Given the description of an element on the screen output the (x, y) to click on. 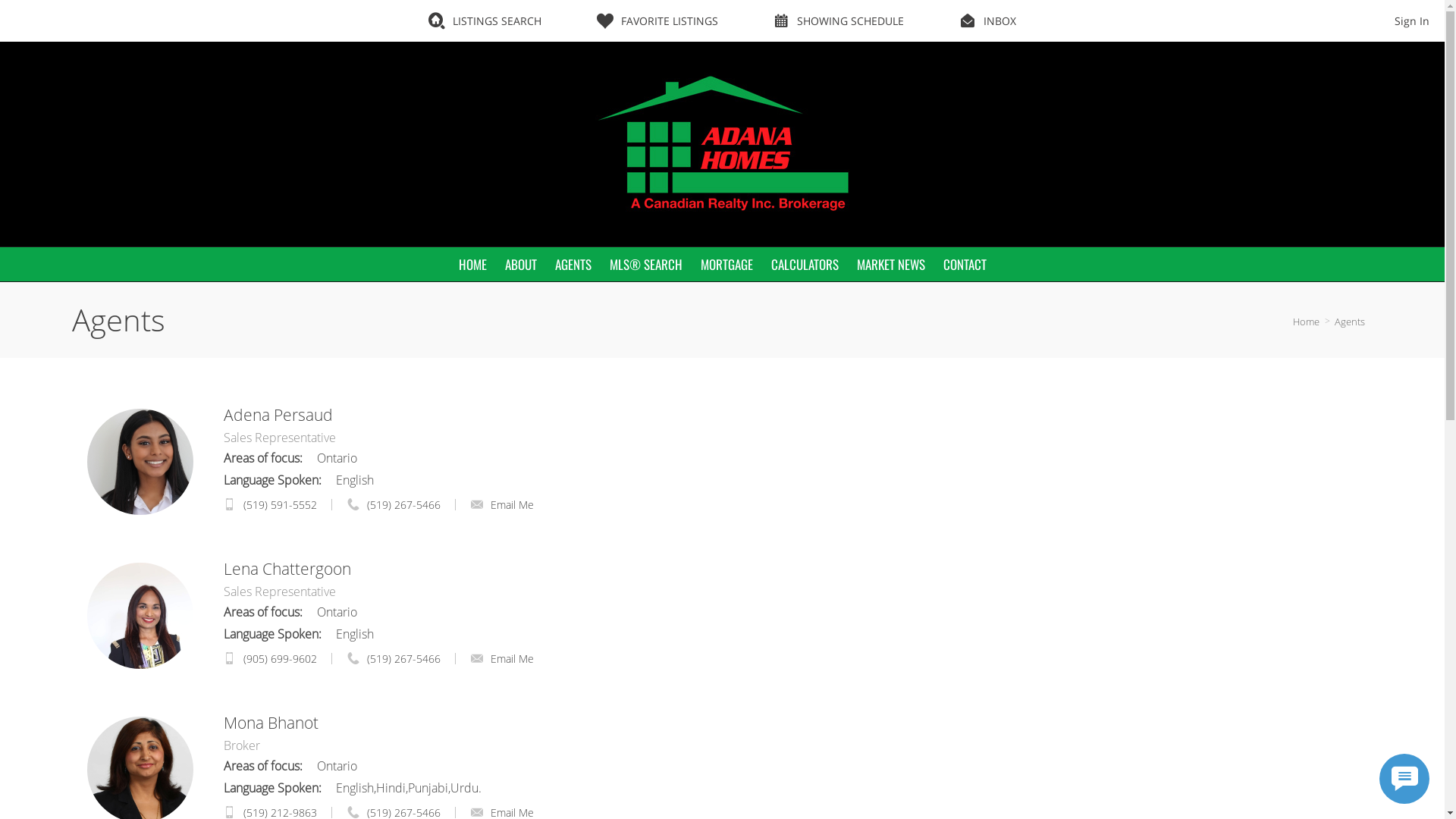
CONTACT Element type: text (964, 264)
MARKET NEWS Element type: text (890, 264)
(519) 267-5466 Element type: text (403, 658)
LISTINGS SEARCH Element type: text (484, 20)
Email Me Element type: text (501, 658)
Live Chat Element type: hover (1404, 778)
HOME Element type: text (471, 264)
ABOUT Element type: text (520, 264)
(519) 591-5552 Element type: text (279, 504)
(905) 699-9602 Element type: text (279, 658)
Email Me Element type: text (501, 504)
(519) 267-5466 Element type: text (403, 504)
INBOX Element type: text (987, 20)
AGENTS Element type: text (573, 264)
SHOWING SCHEDULE Element type: text (837, 20)
Home Element type: text (1305, 321)
Agents Element type: text (1349, 321)
MORTGAGE Element type: text (726, 264)
CALCULATORS Element type: text (804, 264)
FAVORITE LISTINGS Element type: text (657, 20)
